Given the description of an element on the screen output the (x, y) to click on. 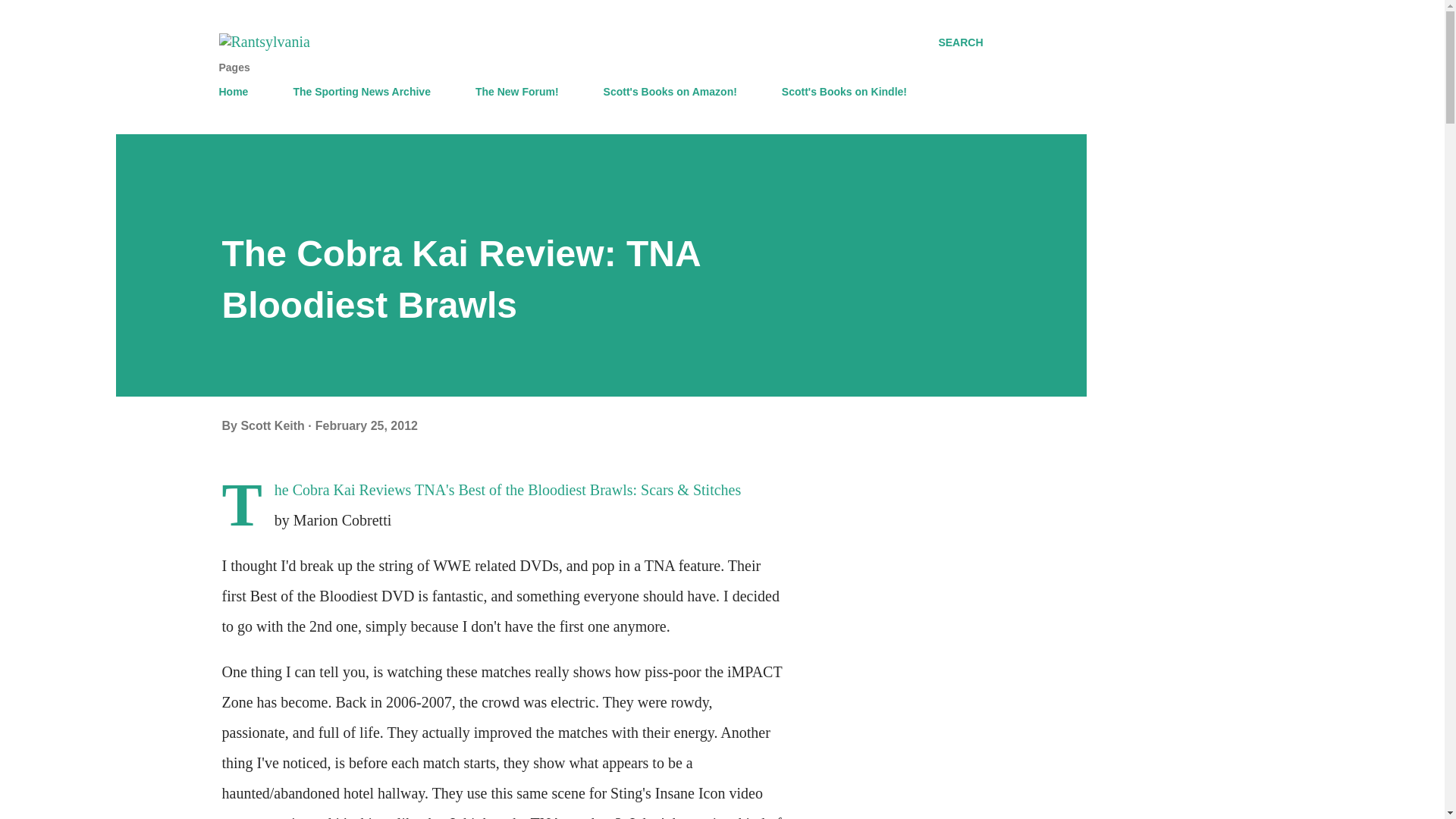
Scott's Books on Kindle! (844, 91)
February 25, 2012 (366, 425)
SEARCH (959, 42)
The Sporting News Archive (361, 91)
author profile (273, 425)
permanent link (366, 425)
Home (237, 91)
Scott's Books on Amazon! (669, 91)
Scott Keith (273, 425)
The New Forum! (516, 91)
